Given the description of an element on the screen output the (x, y) to click on. 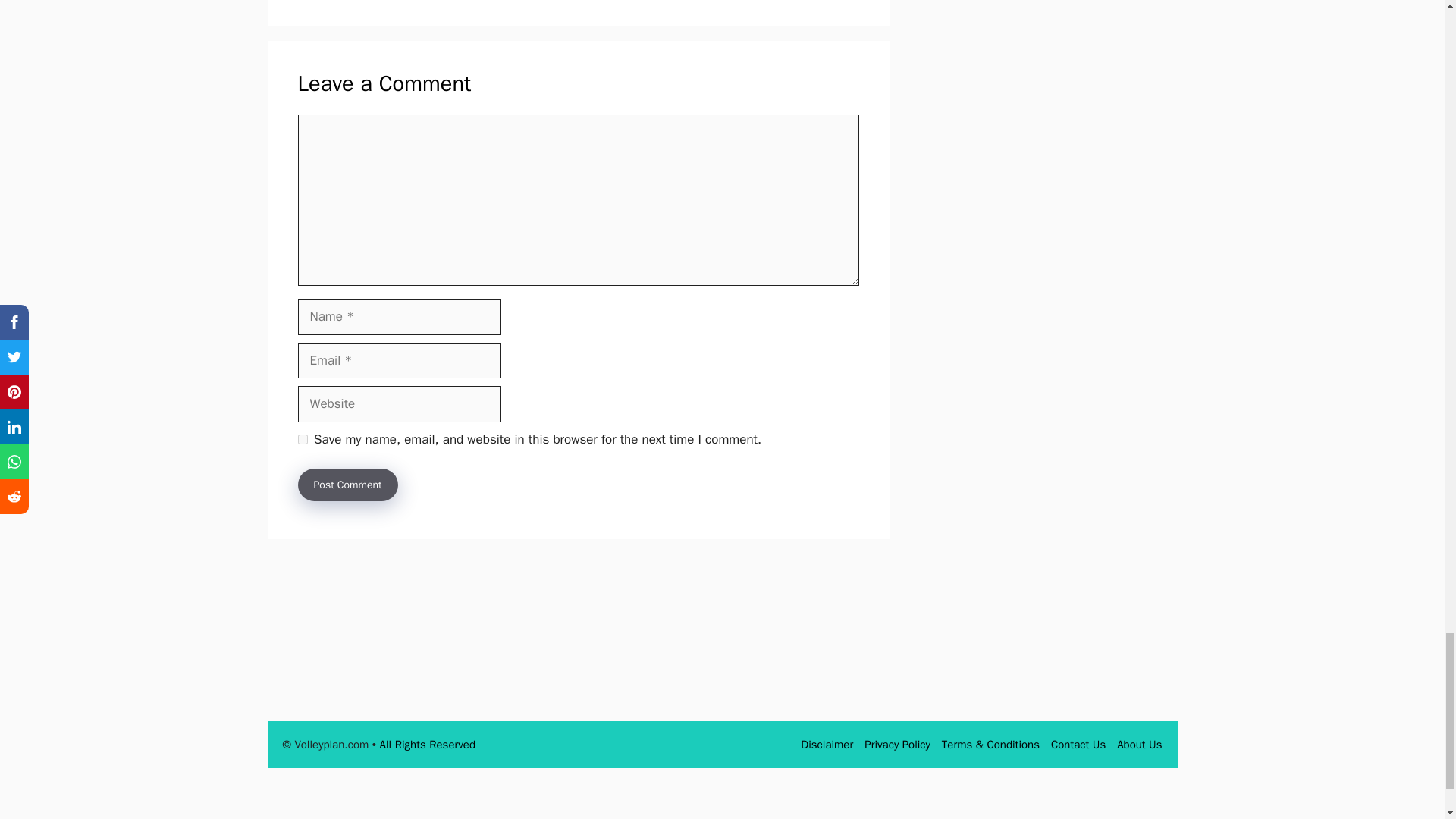
Post Comment (347, 484)
yes (302, 439)
Post Comment (347, 484)
